Given the description of an element on the screen output the (x, y) to click on. 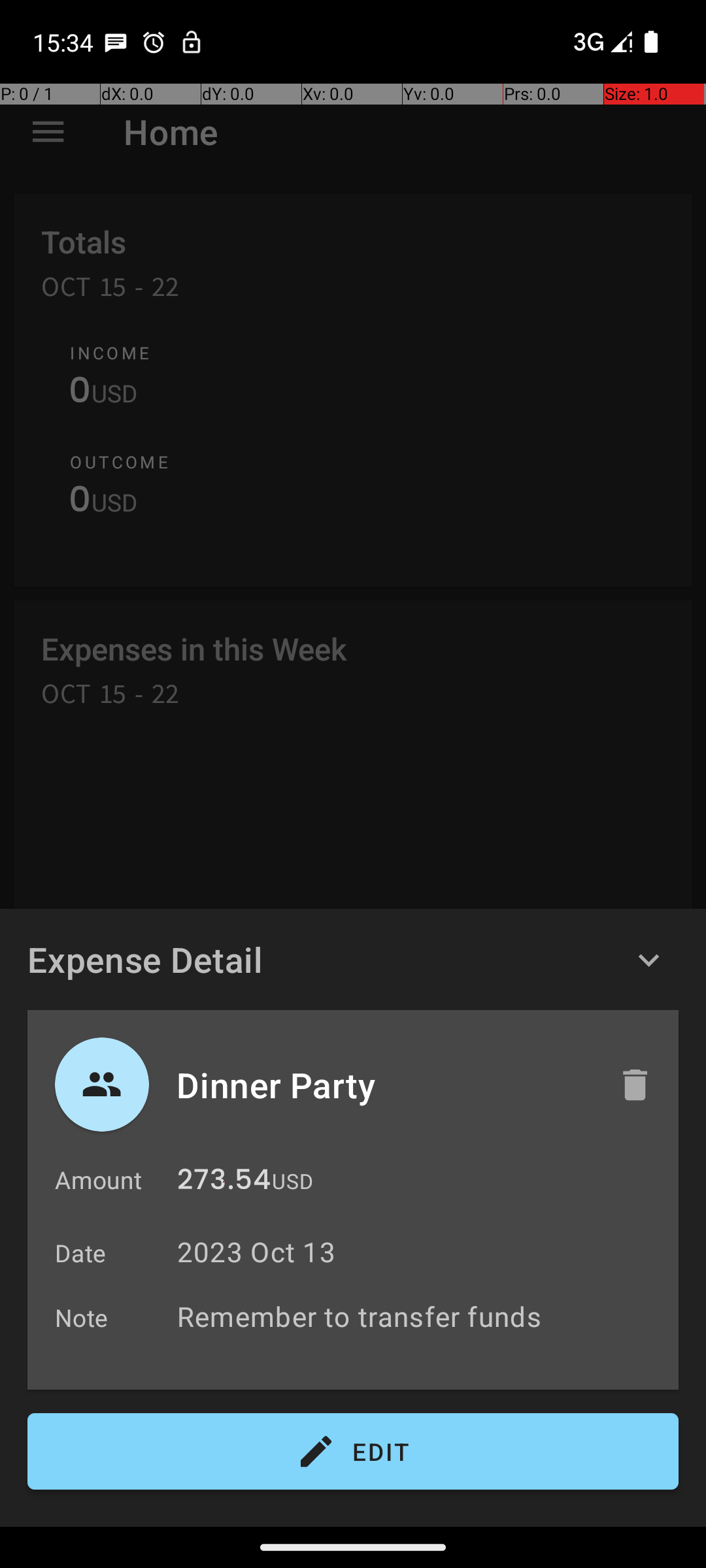
273.54 Element type: android.widget.TextView (223, 1182)
